Given the description of an element on the screen output the (x, y) to click on. 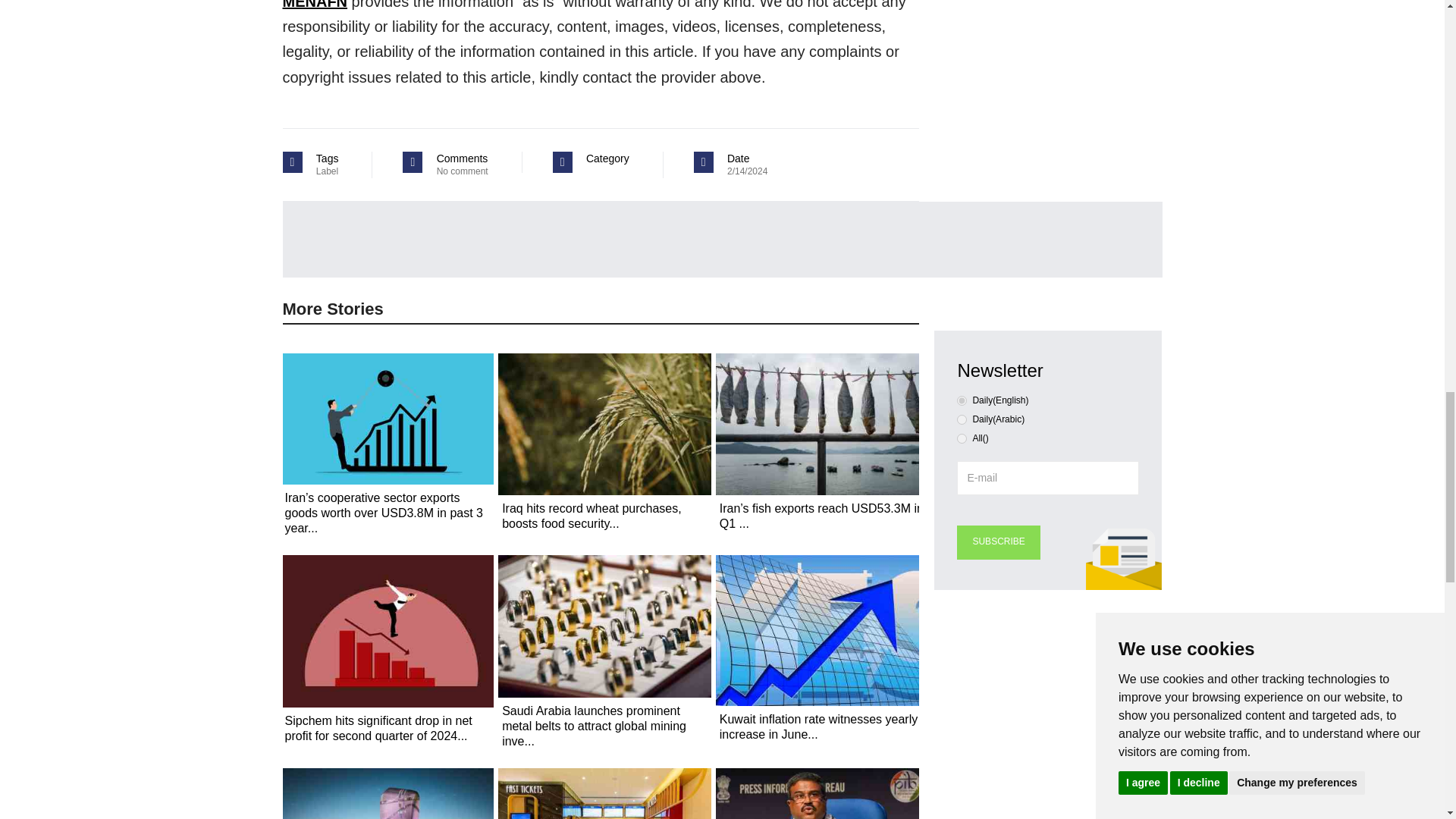
1 (961, 419)
2 (961, 438)
0 (961, 400)
Subscribe (997, 542)
